Given the description of an element on the screen output the (x, y) to click on. 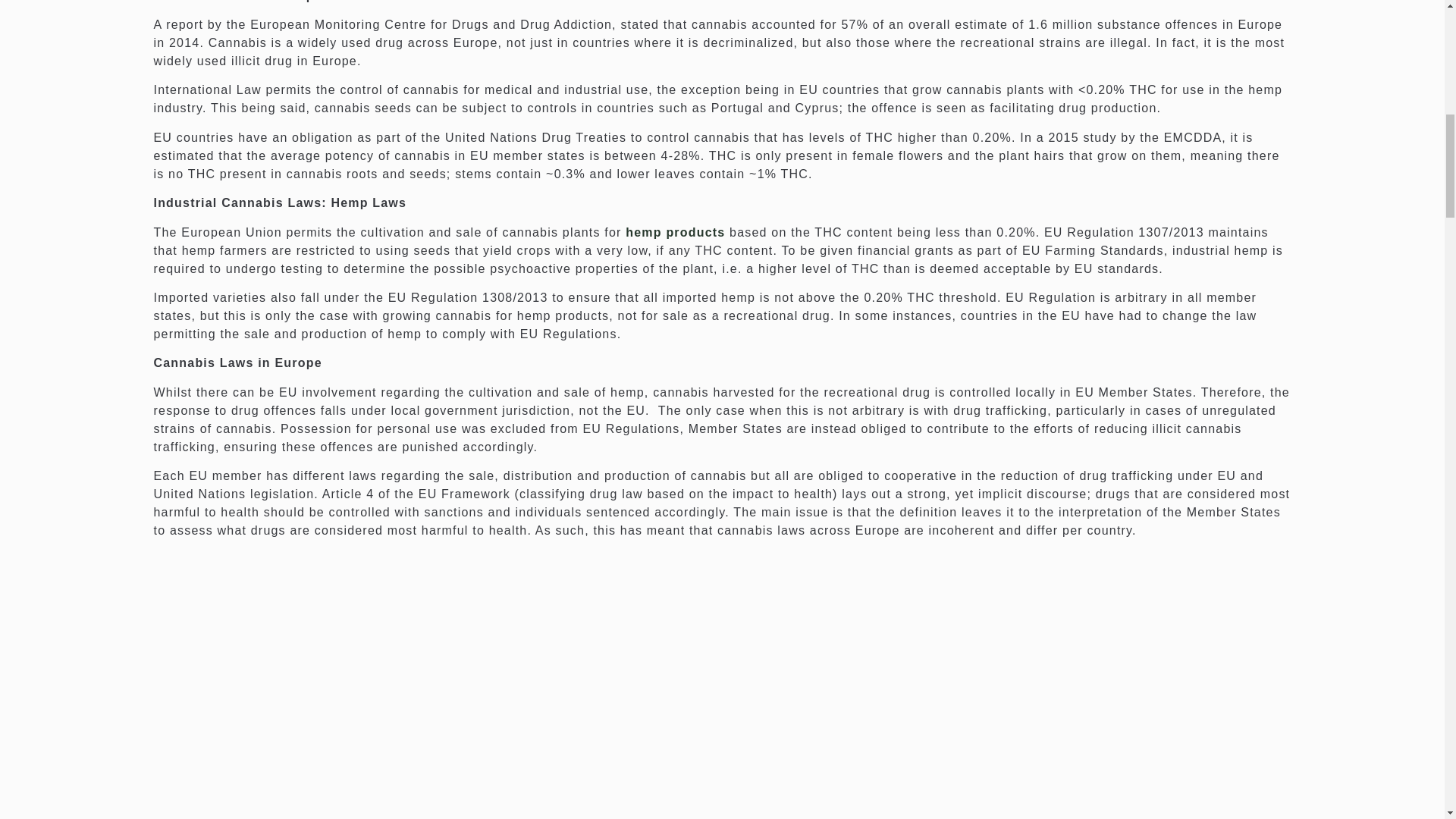
hemp products law (675, 232)
